Given the description of an element on the screen output the (x, y) to click on. 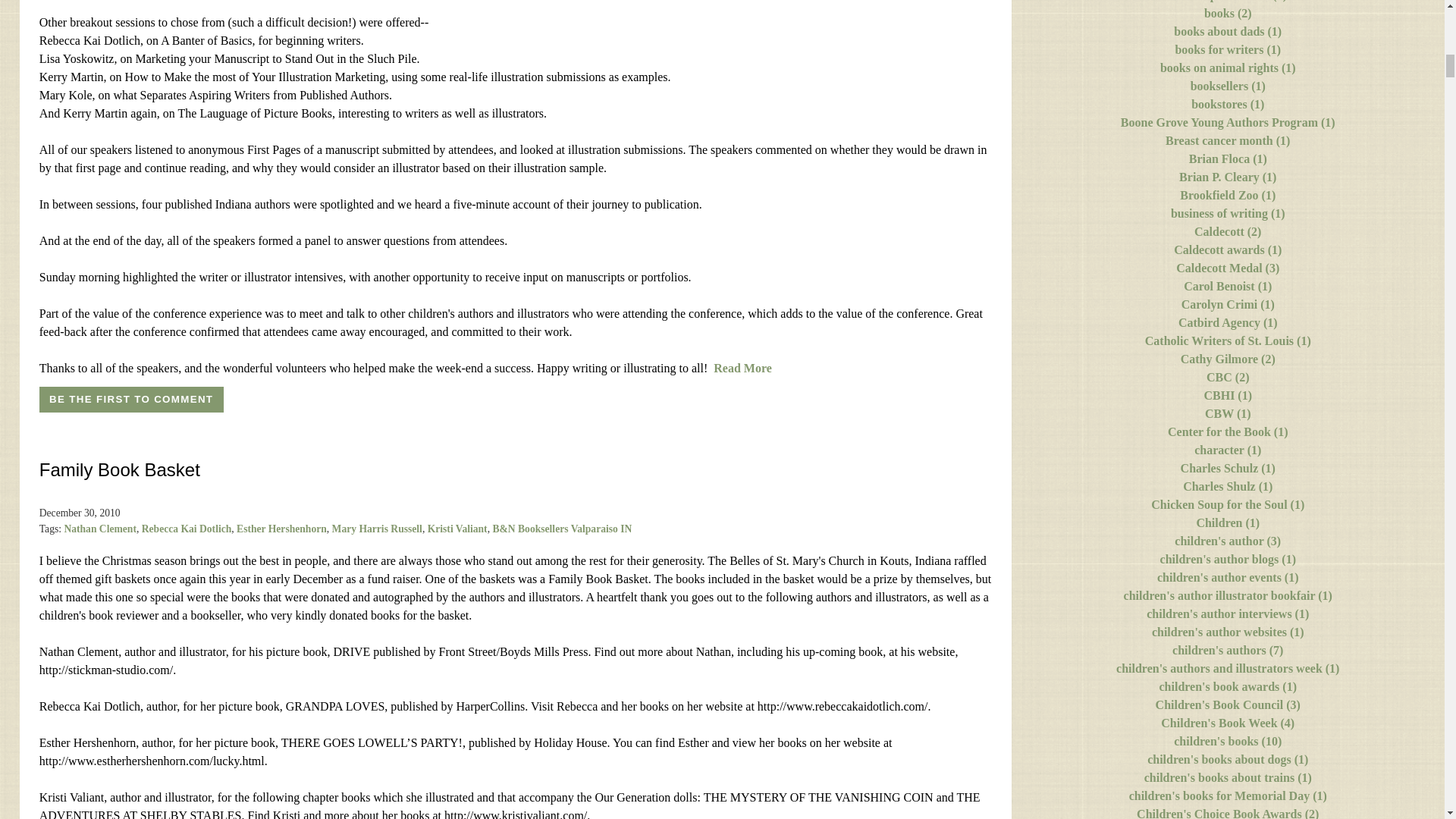
Nathan Clement (100, 528)
Read More (742, 367)
Rebecca Kai Dotlich (186, 528)
Mary Harris Russell (376, 528)
Esther Hershenhorn (280, 528)
Family Book Basket (119, 469)
Kristi Valiant (457, 528)
BE THE FIRST TO COMMENT (131, 398)
